Given the description of an element on the screen output the (x, y) to click on. 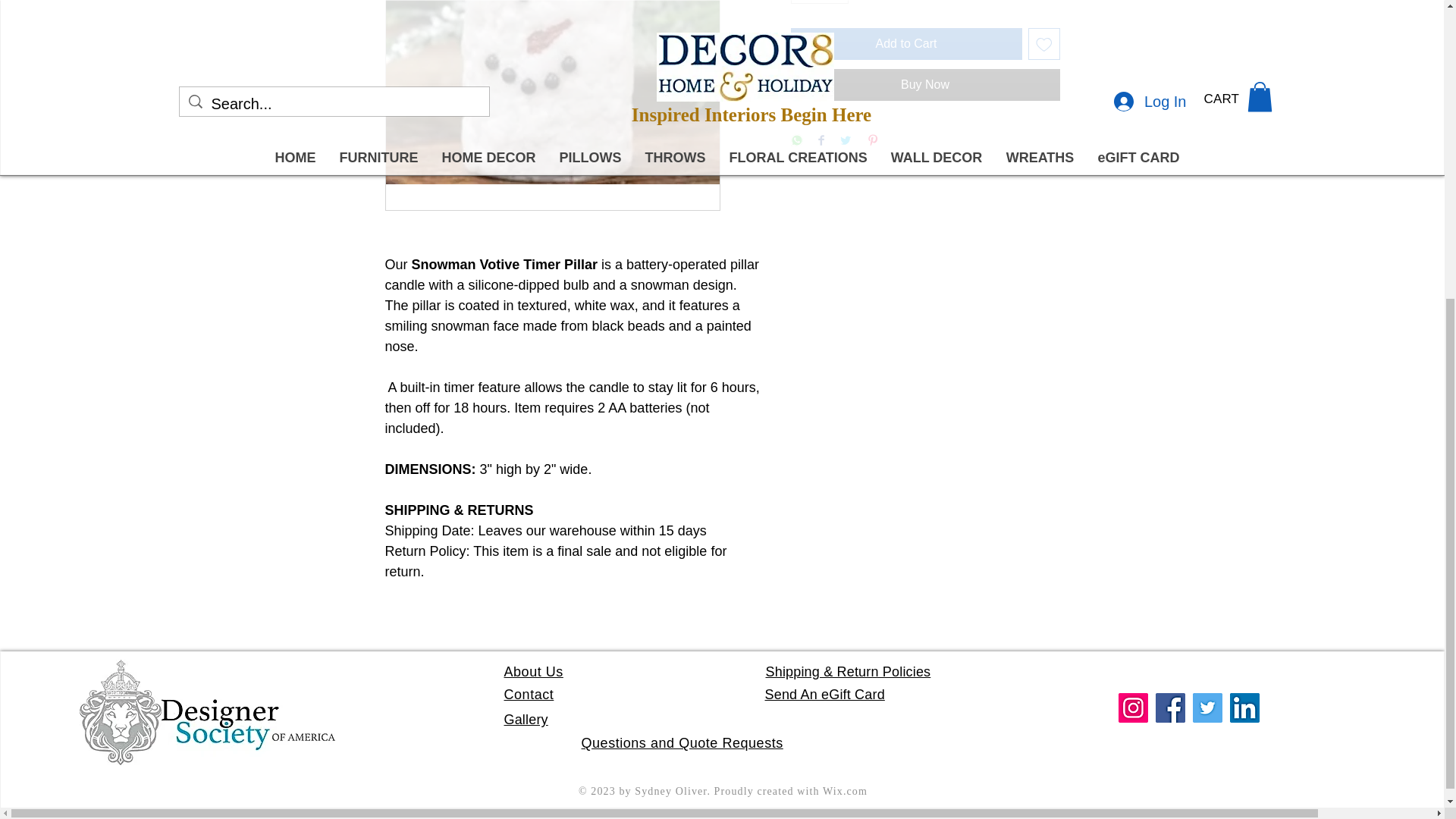
. Proudly created with Wix.com (786, 790)
Sydney Oliver (670, 790)
Questions and Quote Requests (681, 743)
Buy Now (924, 84)
Gallery (525, 719)
About Us (532, 671)
1 (818, 2)
Add to Cart (906, 43)
Contact (528, 694)
Send An eGift Card (823, 694)
